Given the description of an element on the screen output the (x, y) to click on. 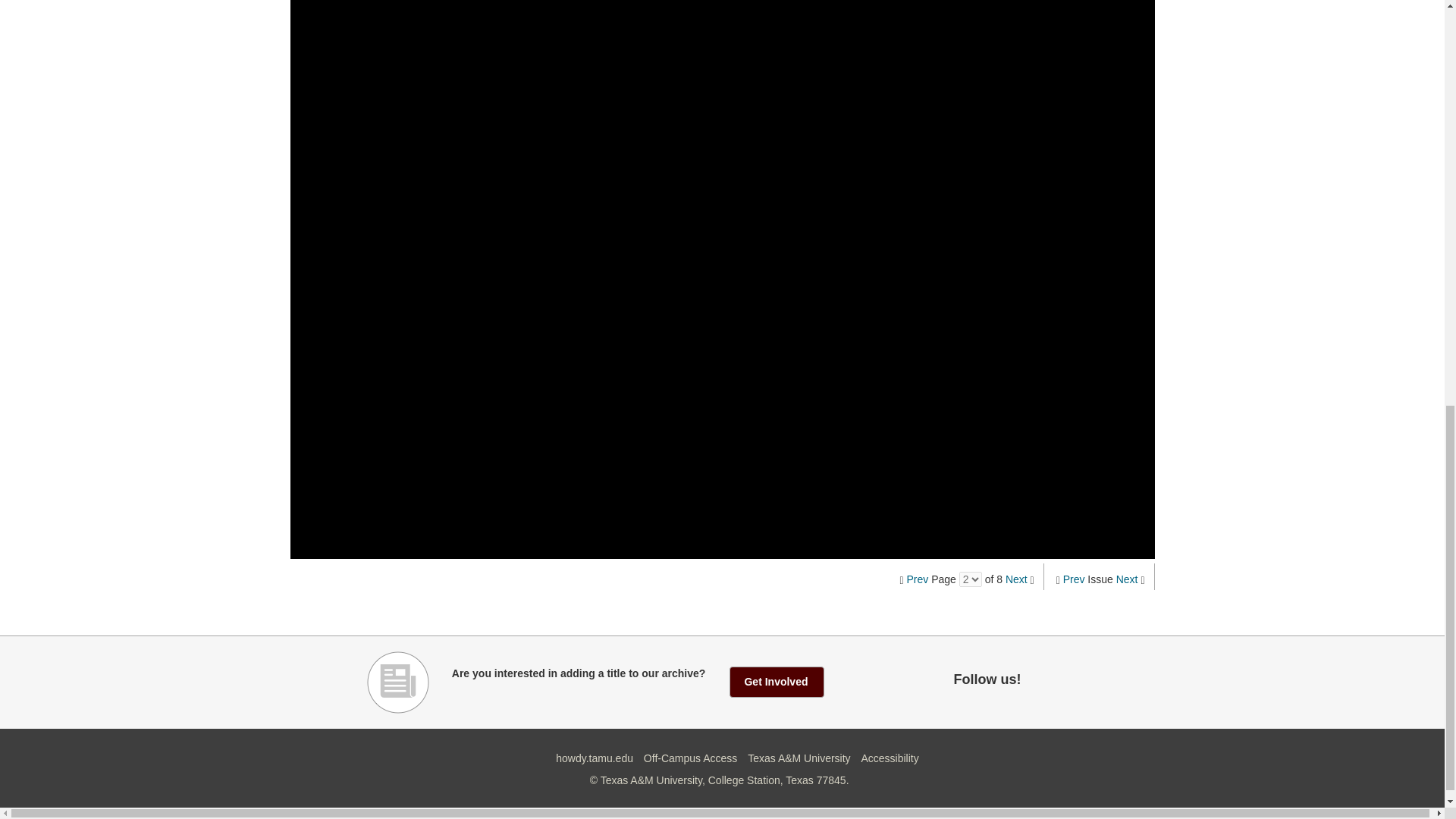
Next (1127, 579)
Accessibility (889, 758)
howdy.tamu.edu (594, 758)
Next (1016, 579)
Get Involved (776, 681)
Prev (917, 579)
Prev (1073, 579)
Off-Campus Access (689, 758)
